Given the description of an element on the screen output the (x, y) to click on. 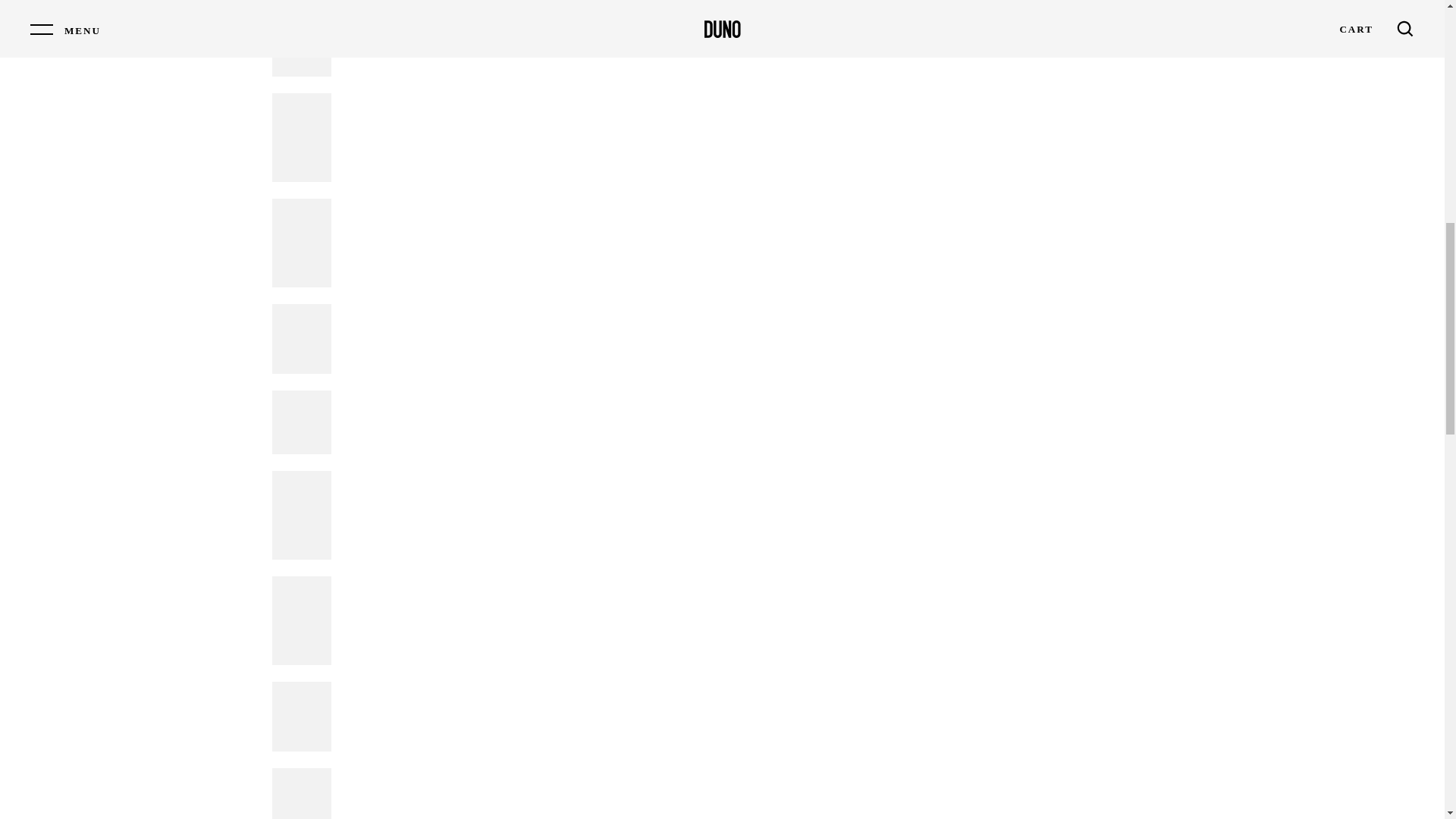
Pinterest (956, 2)
Facebook (911, 2)
Twitter (934, 2)
